Given the description of an element on the screen output the (x, y) to click on. 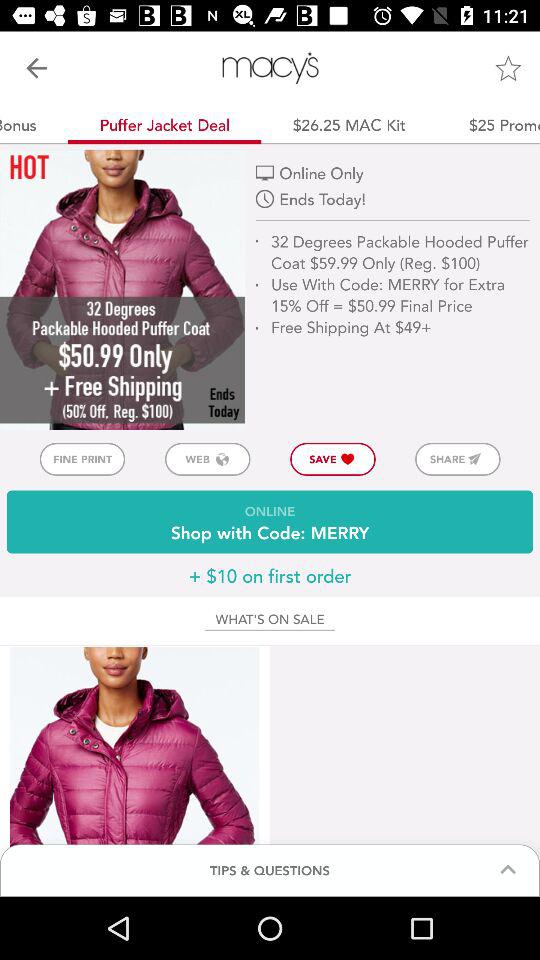
jump until the $10 bonus (34, 124)
